Given the description of an element on the screen output the (x, y) to click on. 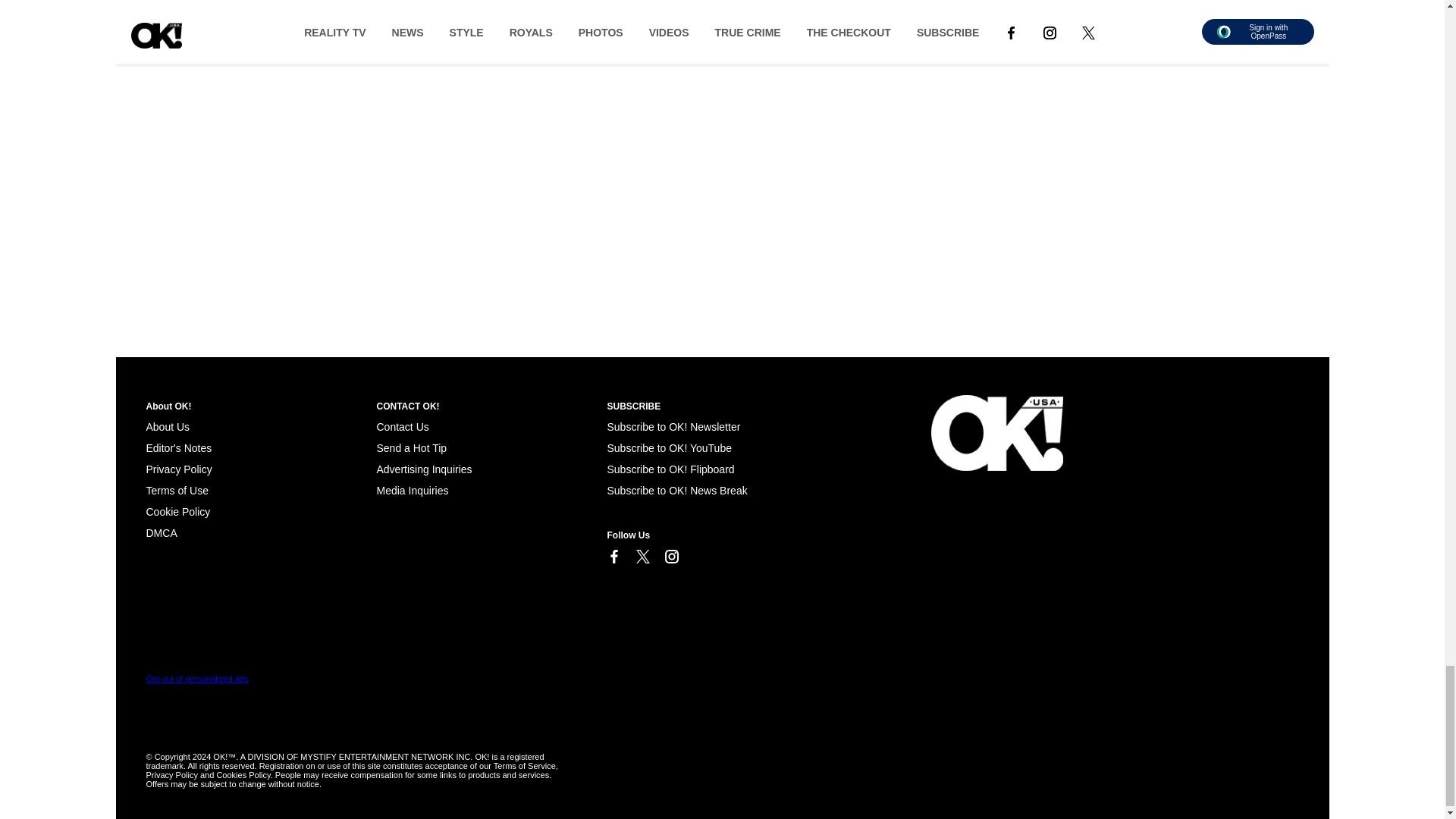
Cookie Policy (177, 511)
Link to Facebook (613, 556)
Editor's Notes (178, 448)
About Us (167, 426)
Privacy Policy (178, 469)
Link to X (641, 556)
Link to Instagram (670, 556)
Cookie Policy (160, 532)
Terms of Use (176, 490)
